Given the description of an element on the screen output the (x, y) to click on. 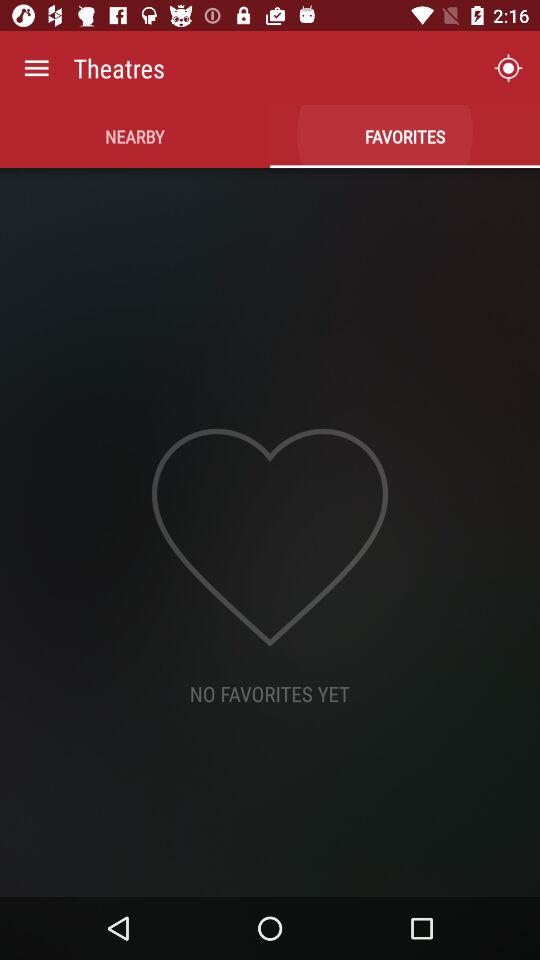
select the item to the left of theatres icon (36, 68)
